Given the description of an element on the screen output the (x, y) to click on. 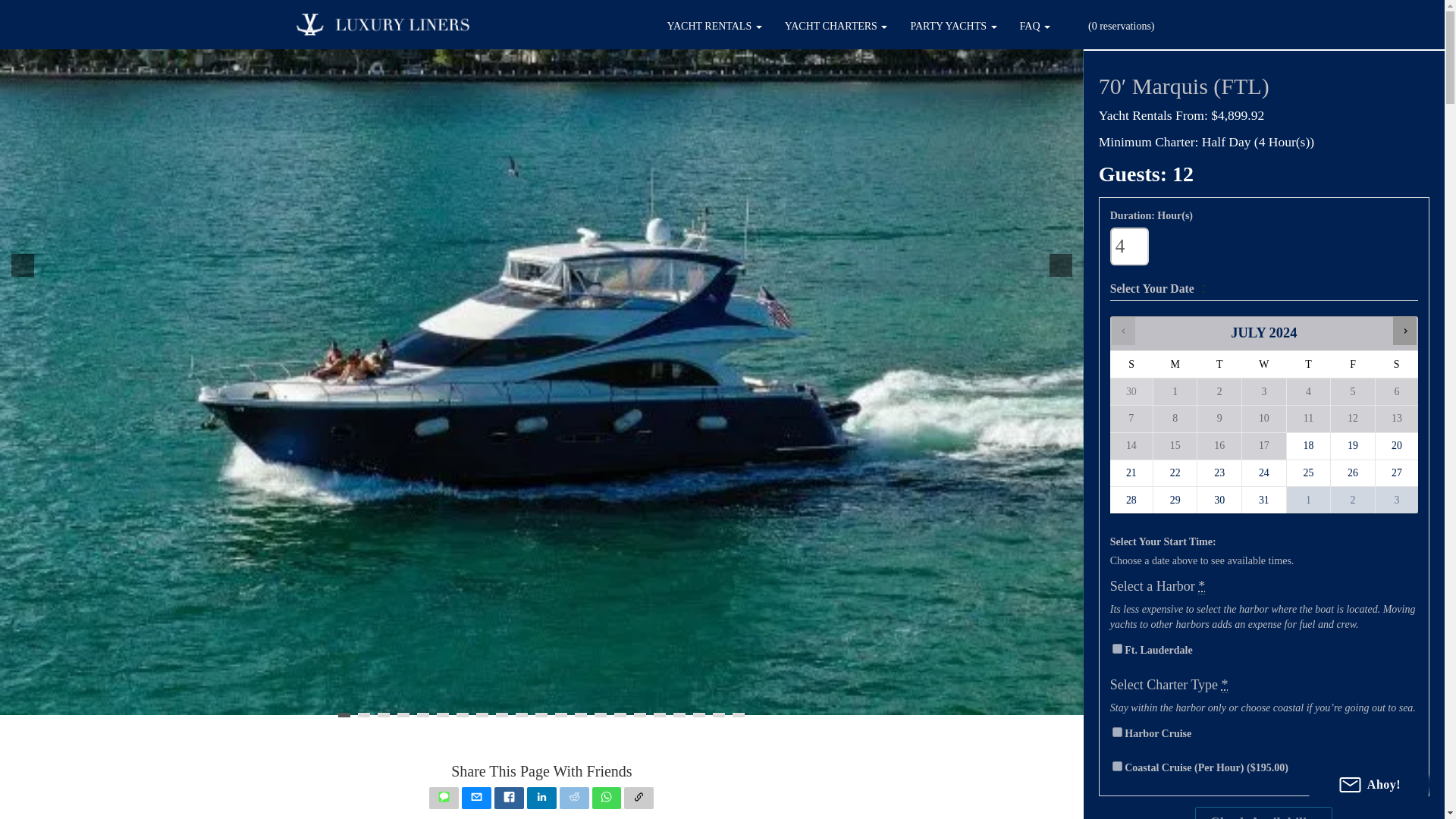
PARTY YACHTS (952, 26)
harbor-cruise (1117, 732)
ft-lauderdale (1117, 648)
coastal-cruise-per-hour (1117, 766)
FAQ (1035, 26)
YACHT RENTALS (714, 26)
YACHT CHARTERS (836, 26)
4 (1128, 246)
